Given the description of an element on the screen output the (x, y) to click on. 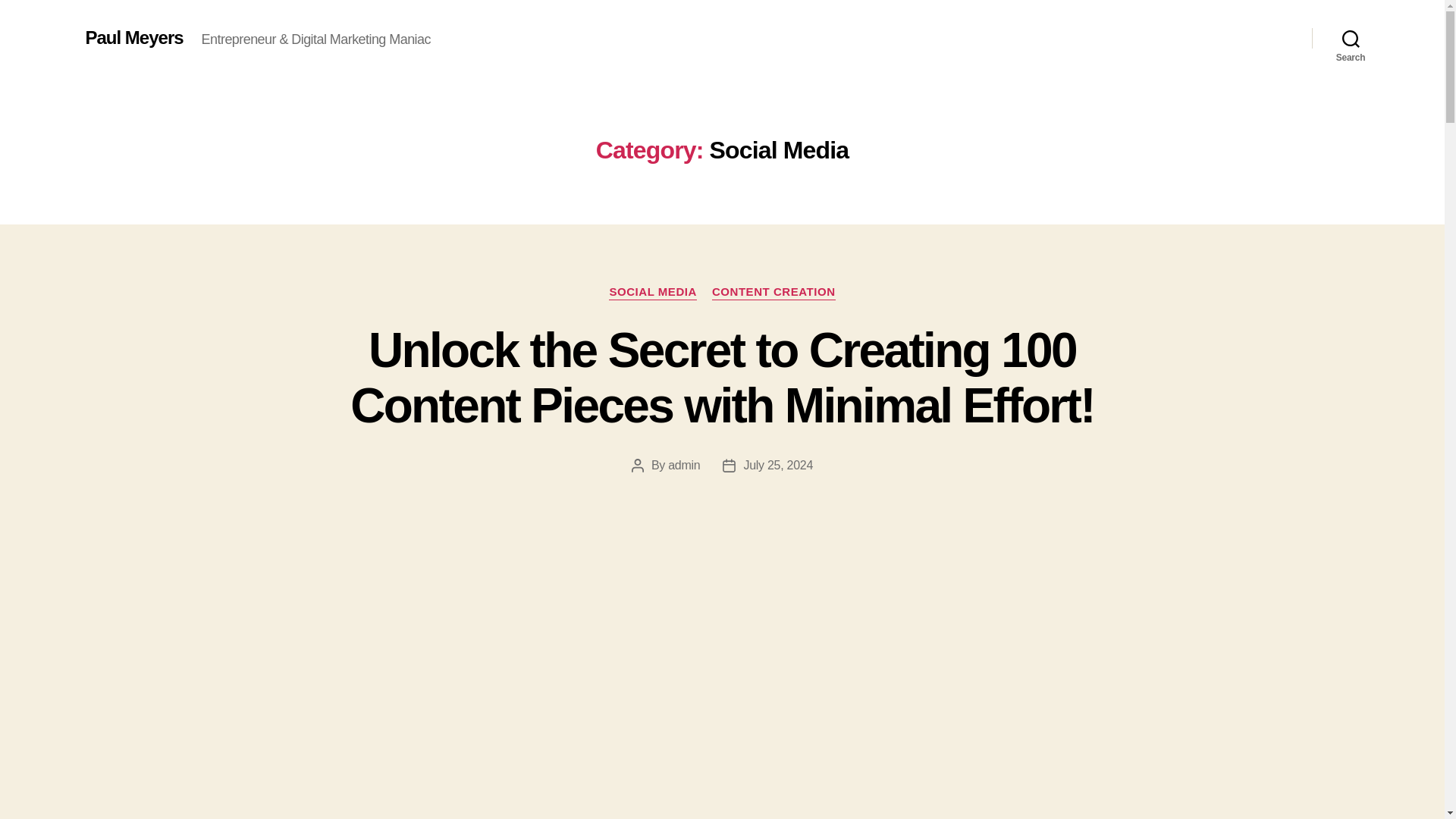
CONTENT CREATION (773, 292)
SOCIAL MEDIA (652, 292)
July 25, 2024 (777, 464)
Paul Meyers (133, 37)
admin (684, 464)
Search (1350, 37)
